Given the description of an element on the screen output the (x, y) to click on. 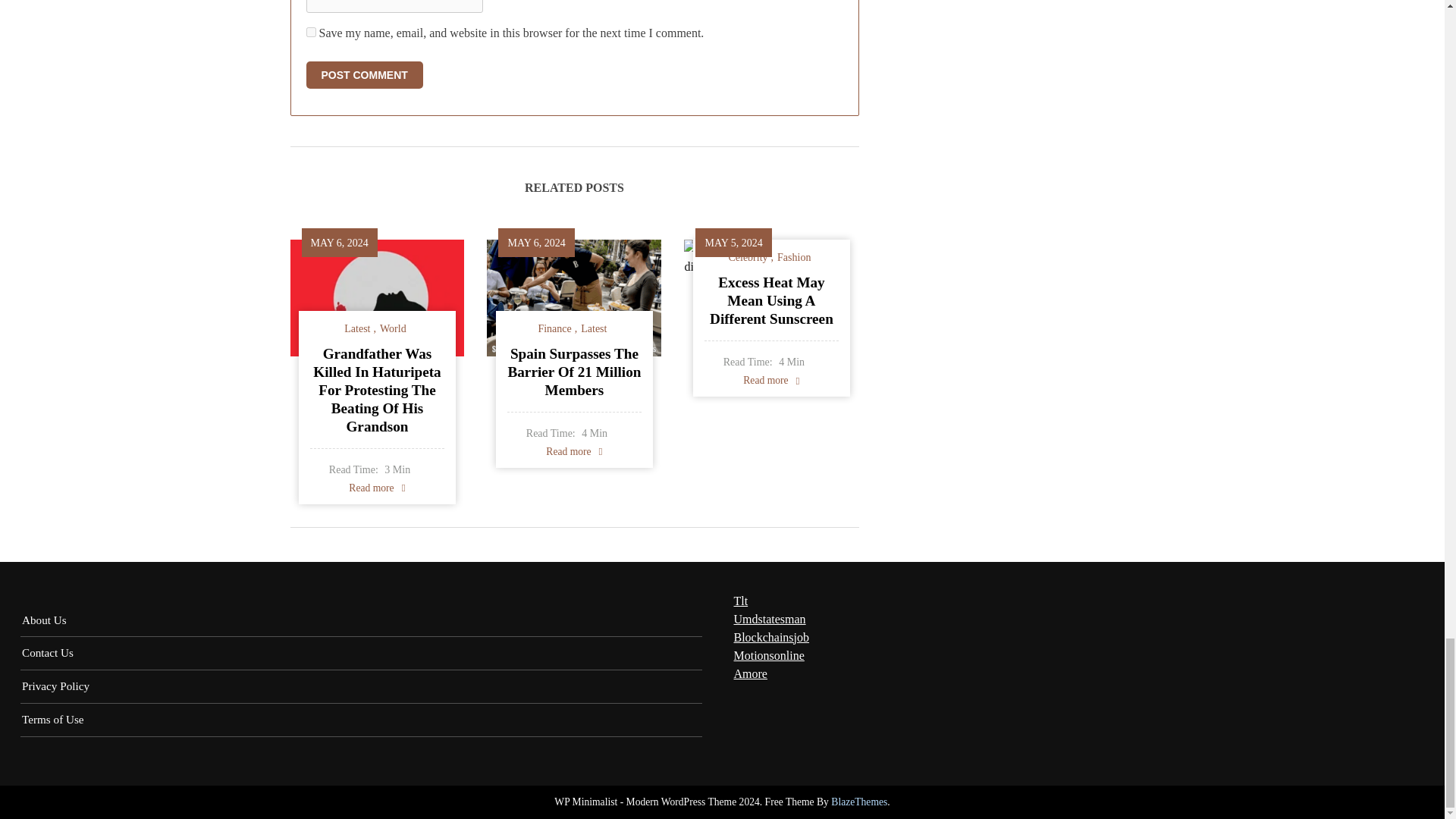
yes (310, 31)
Post Comment (364, 74)
Post Comment (364, 74)
Latest (359, 327)
MAY 6, 2024 (339, 241)
